Given the description of an element on the screen output the (x, y) to click on. 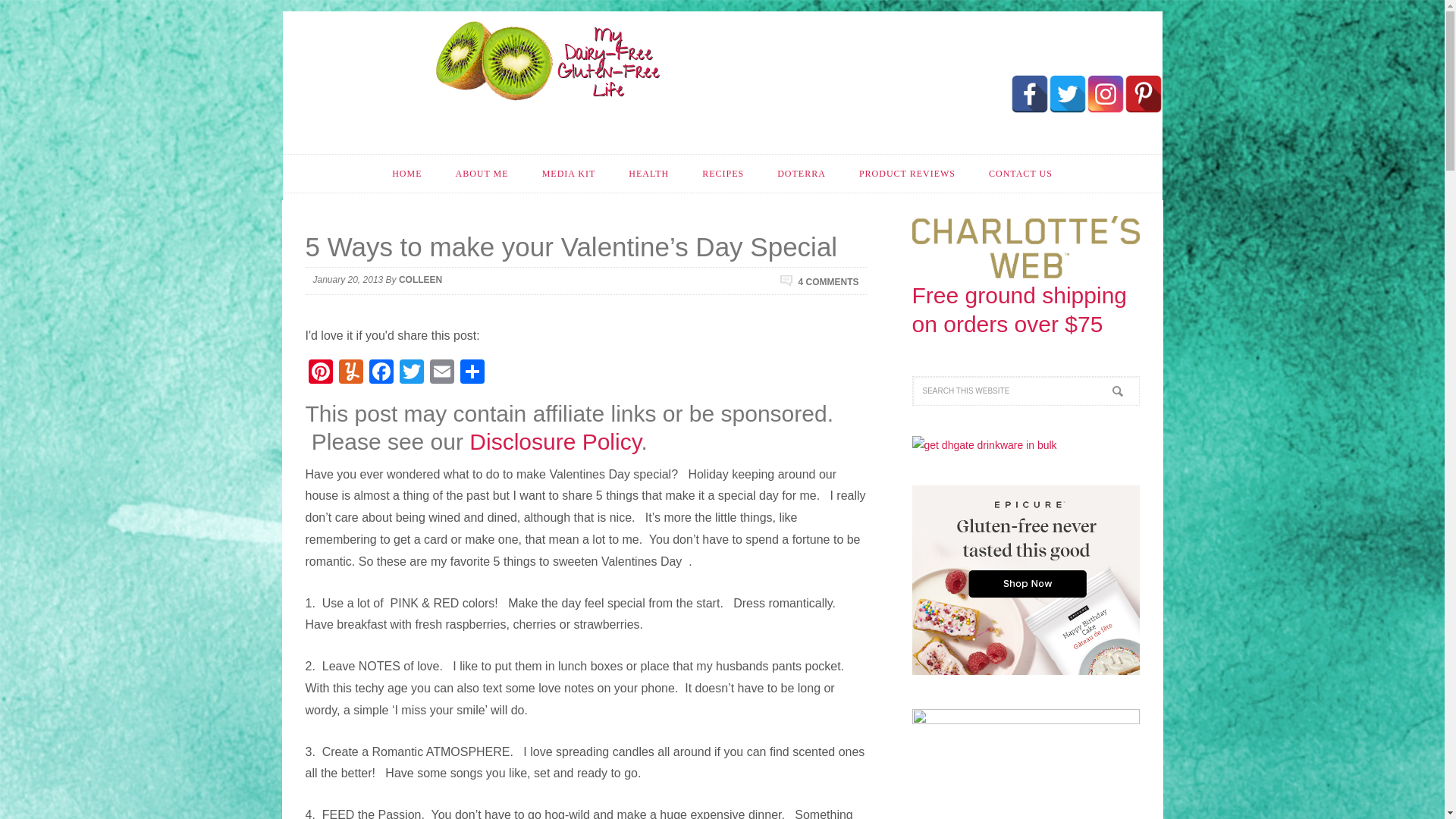
MEDIA KIT (569, 173)
Yummly (349, 373)
Email (441, 373)
Instagram (1105, 94)
Twitter (411, 373)
ABOUT ME (480, 173)
HOME (406, 173)
Facebook (380, 373)
Pinterest (319, 373)
My DairyFree GlutenFree Life (547, 60)
HEALTH (648, 173)
Facebook (1029, 94)
RECIPES (722, 173)
Pinterest (1142, 94)
